Given the description of an element on the screen output the (x, y) to click on. 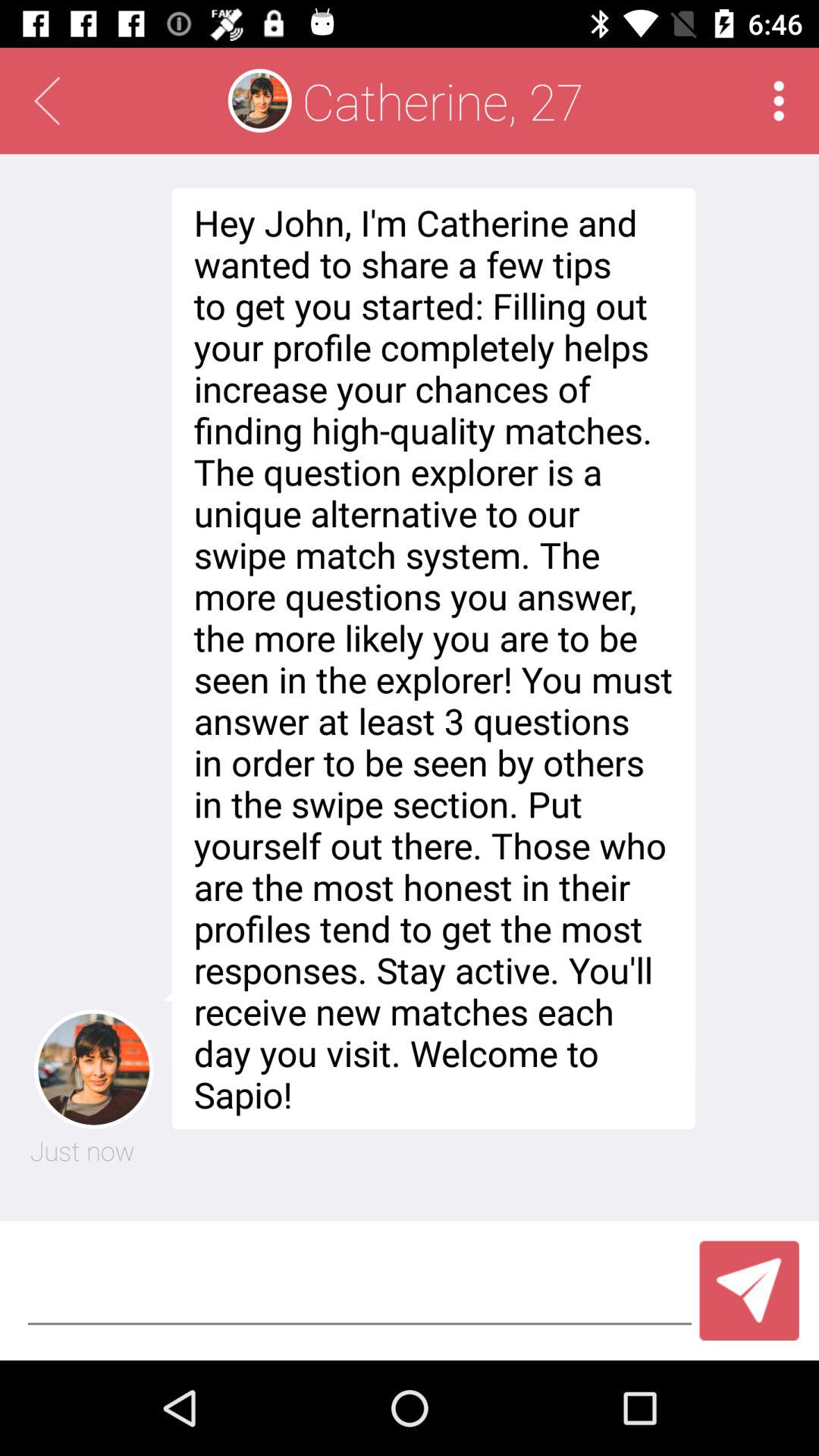
turn on item next to the hey john i app (82, 1150)
